Given the description of an element on the screen output the (x, y) to click on. 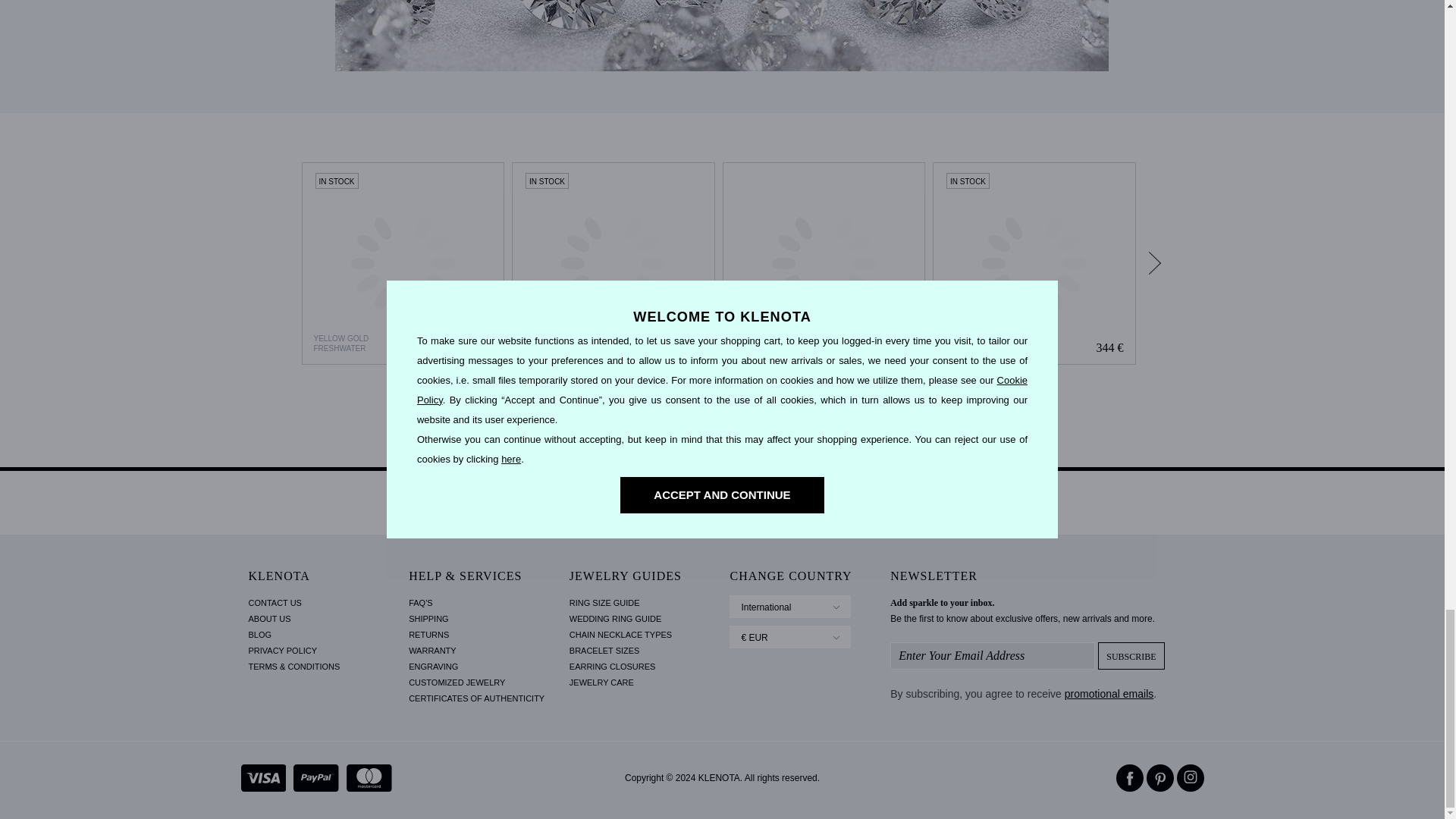
Pearl Earrings with Brilliants in Rose Gold (823, 263)
Gold Earrings with Pearls (403, 263)
Pinterest (1160, 777)
Pearl Earrings in Yellow Gold (613, 263)
Instagram (1190, 777)
Freshwater Pearl Stud Earrings (1034, 263)
Pearl Earrings with Brilliants in Rose Gold (823, 263)
Pearl Earrings in Yellow Gold (613, 263)
Gold Earrings with Pearls (402, 263)
Freshwater Pearl Stud Earrings (1034, 263)
Facebook (1129, 777)
